Given the description of an element on the screen output the (x, y) to click on. 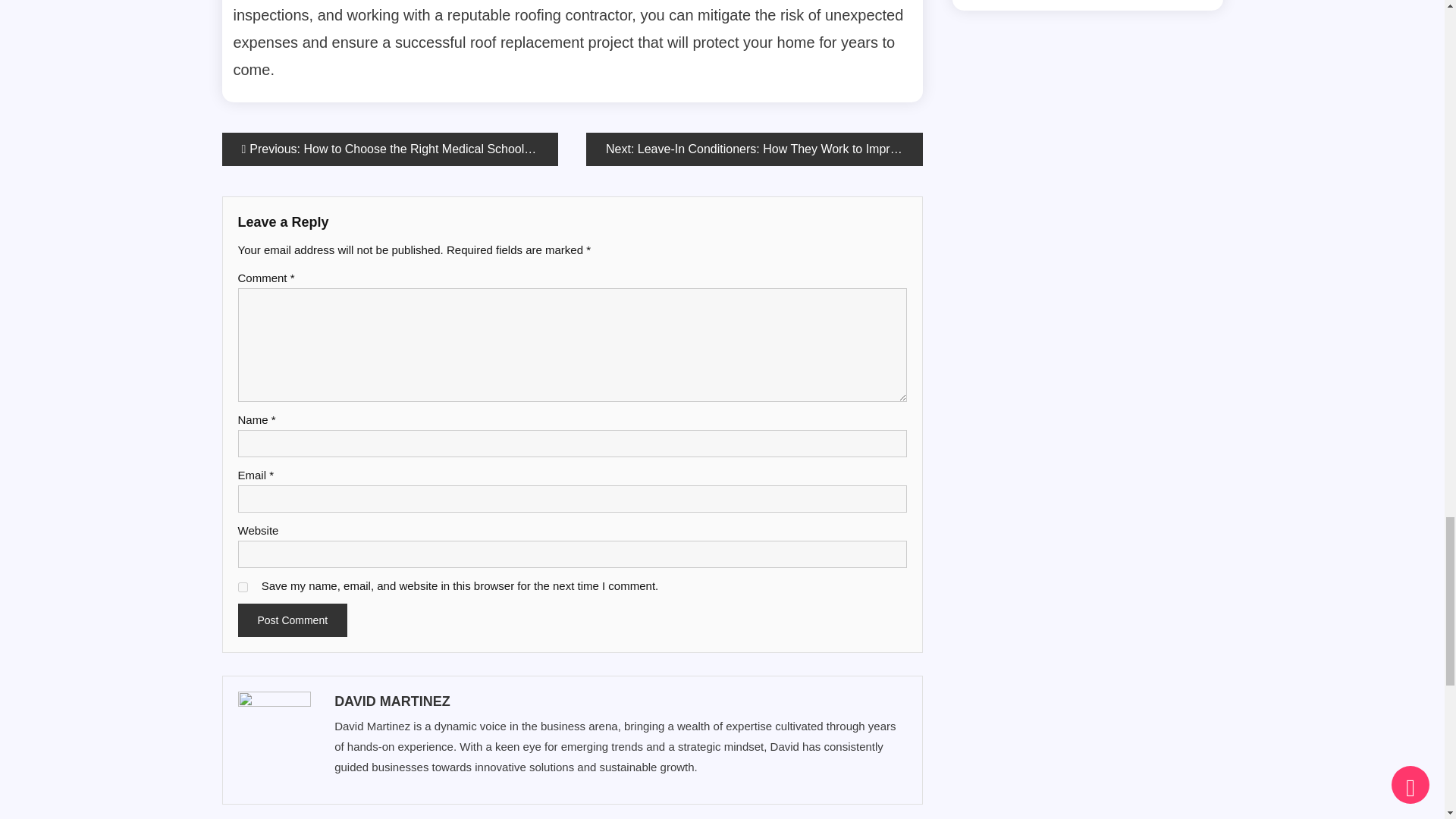
Post Comment (292, 620)
Posts by David Martinez (618, 701)
yes (242, 587)
Post Comment (292, 620)
DAVID MARTINEZ (618, 701)
